Given the description of an element on the screen output the (x, y) to click on. 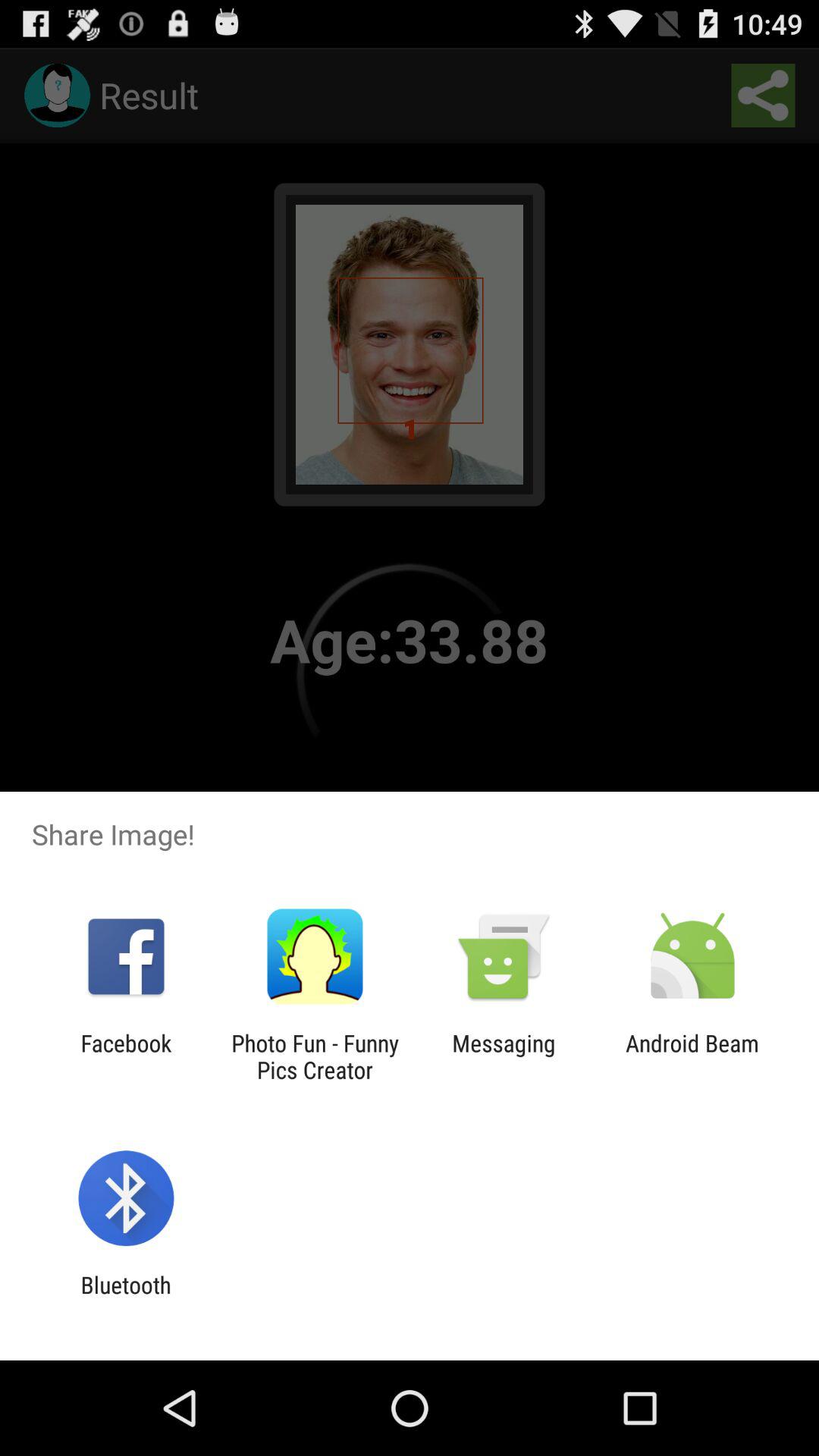
launch the icon to the left of photo fun funny (125, 1056)
